Given the description of an element on the screen output the (x, y) to click on. 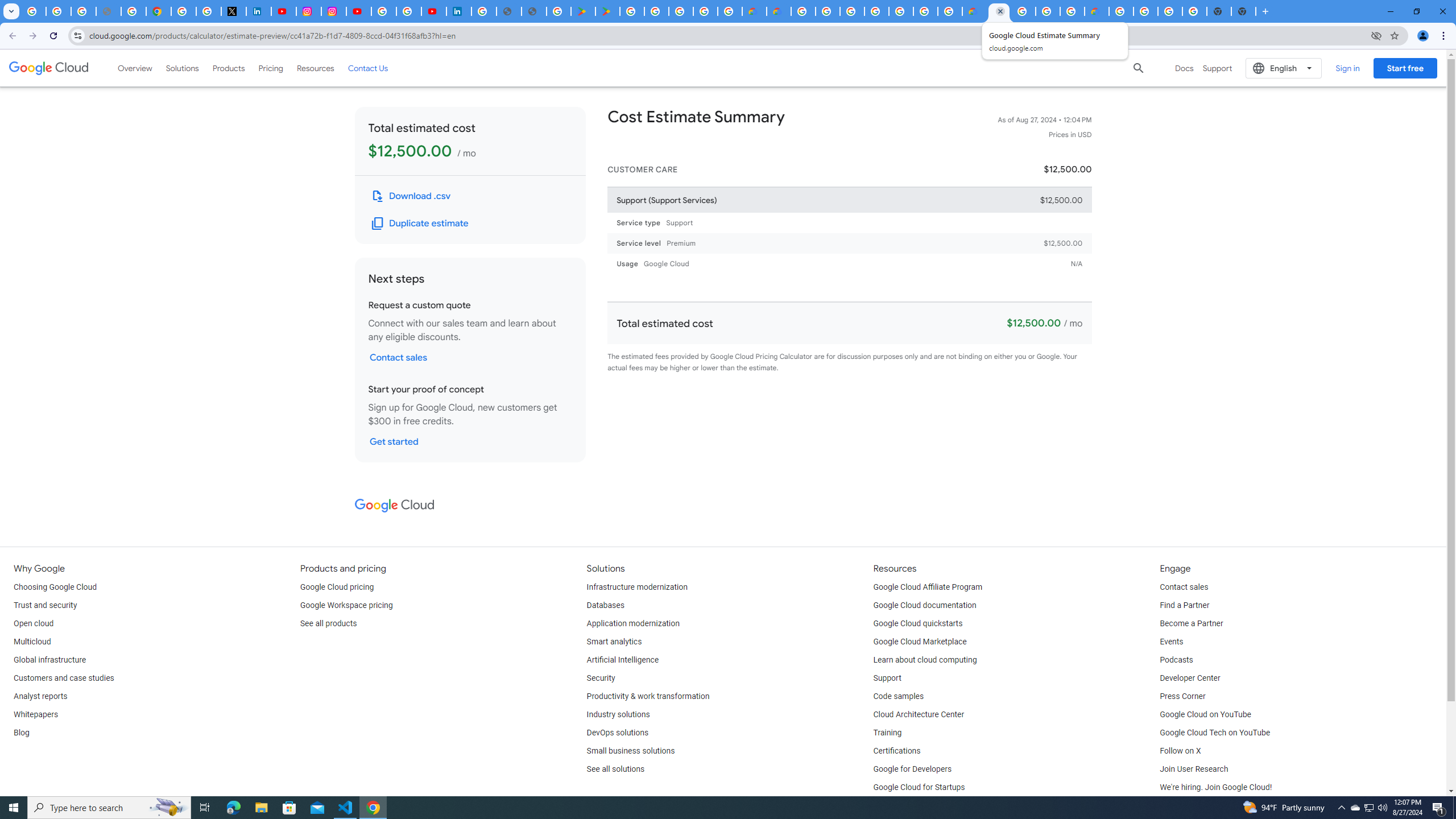
Smart analytics (614, 642)
Google Cloud documentation (924, 605)
Find a Partner (1183, 605)
Sign in - Google Accounts (851, 11)
Certifications (896, 751)
Duplicate this estimate (420, 223)
PAW Patrol Rescue World - Apps on Google Play (606, 11)
Support (887, 678)
Google Cloud pricing (336, 587)
